Given the description of an element on the screen output the (x, y) to click on. 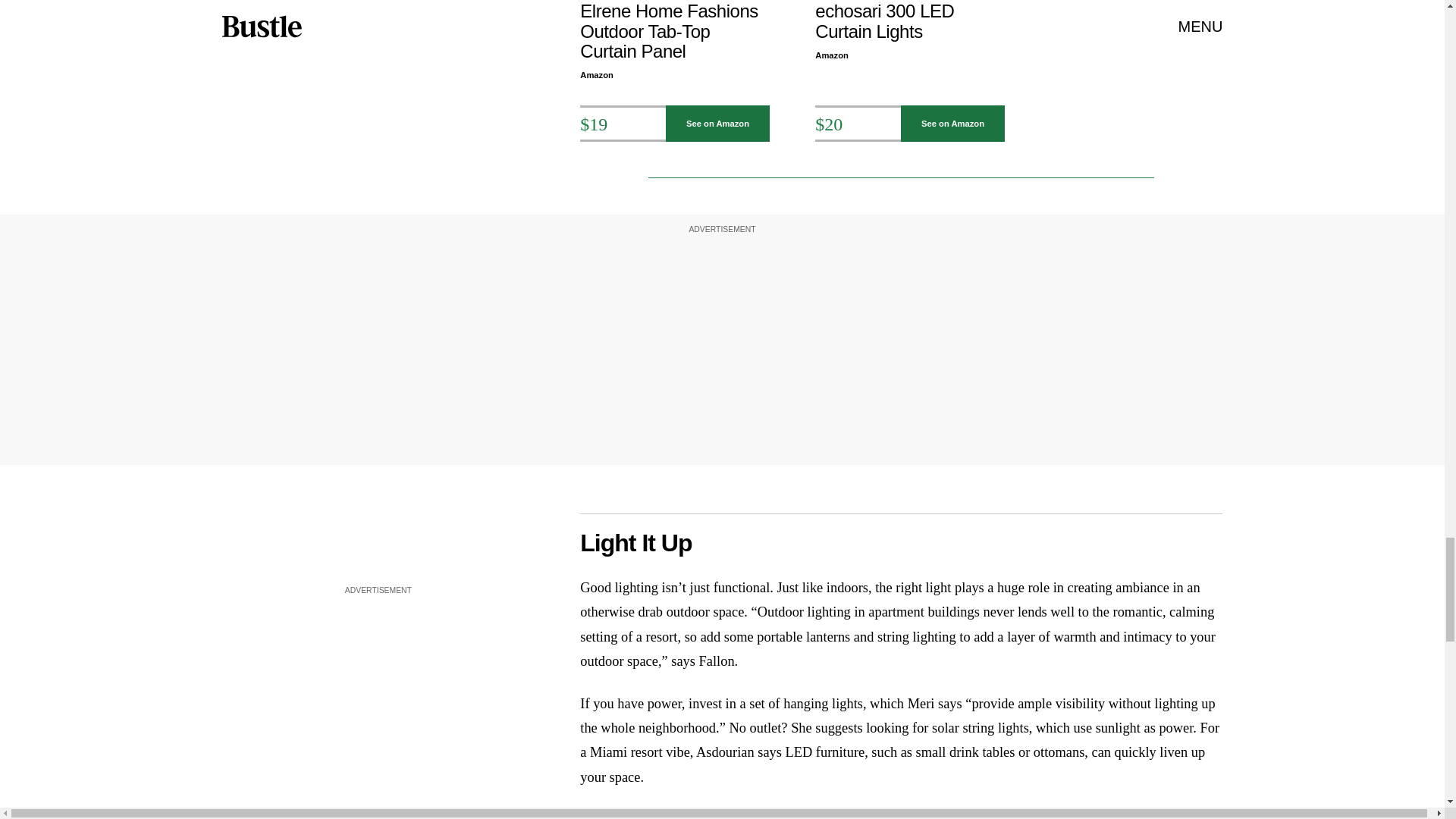
See on Amazon (717, 123)
